Given the description of an element on the screen output the (x, y) to click on. 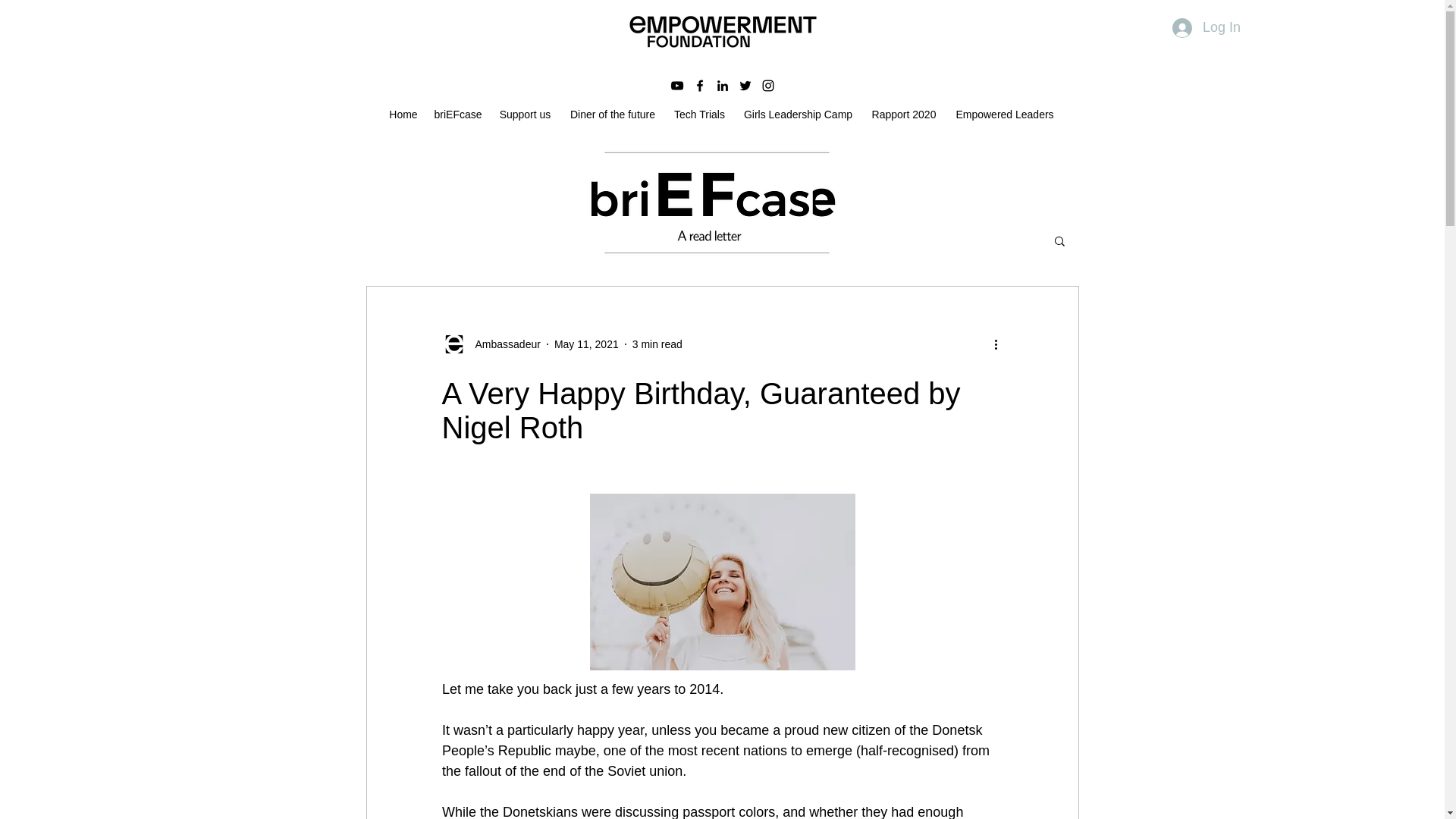
May 11, 2021 (586, 344)
Support us (524, 114)
Ambassadeur (490, 344)
Rapport 2020 (903, 114)
Empowered Leaders (1004, 114)
Tech Trials (699, 114)
Home (402, 114)
Log In (1205, 28)
Ambassadeur  (502, 344)
Diner of the future (612, 114)
briEFcase (458, 114)
Girls Leadership Camp (798, 114)
3 min read (656, 344)
